Given the description of an element on the screen output the (x, y) to click on. 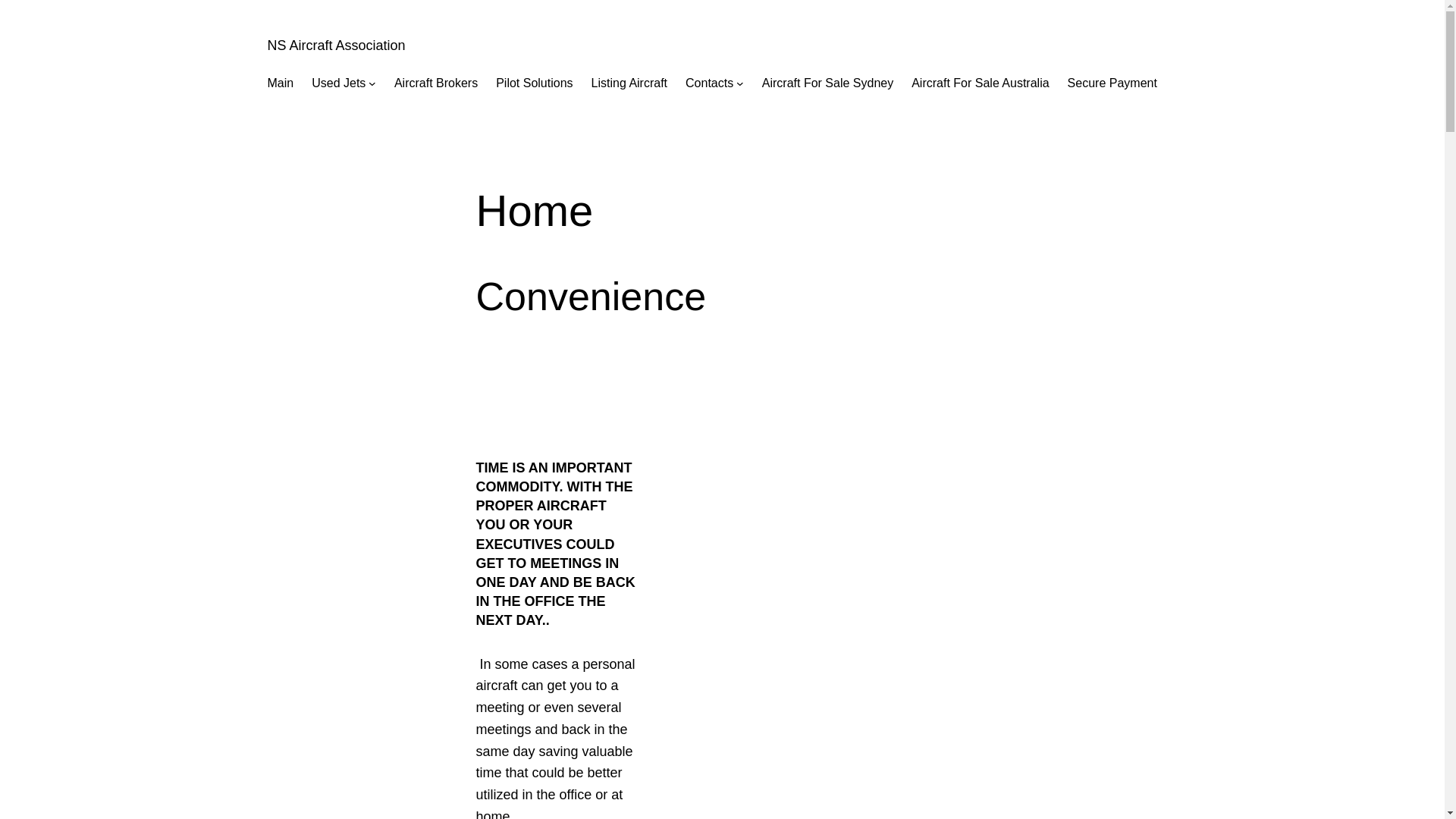
Aircraft For Sale Australia Element type: text (979, 83)
Pilot Solutions Element type: text (533, 83)
Aircraft For Sale Sydney Element type: text (827, 83)
Main Element type: text (279, 83)
Secure Payment Element type: text (1112, 83)
Used Jets Element type: text (338, 83)
Contacts Element type: text (709, 83)
Aircraft Brokers Element type: text (435, 83)
NS Aircraft Association Element type: text (335, 45)
Listing Aircraft Element type: text (629, 83)
